Given the description of an element on the screen output the (x, y) to click on. 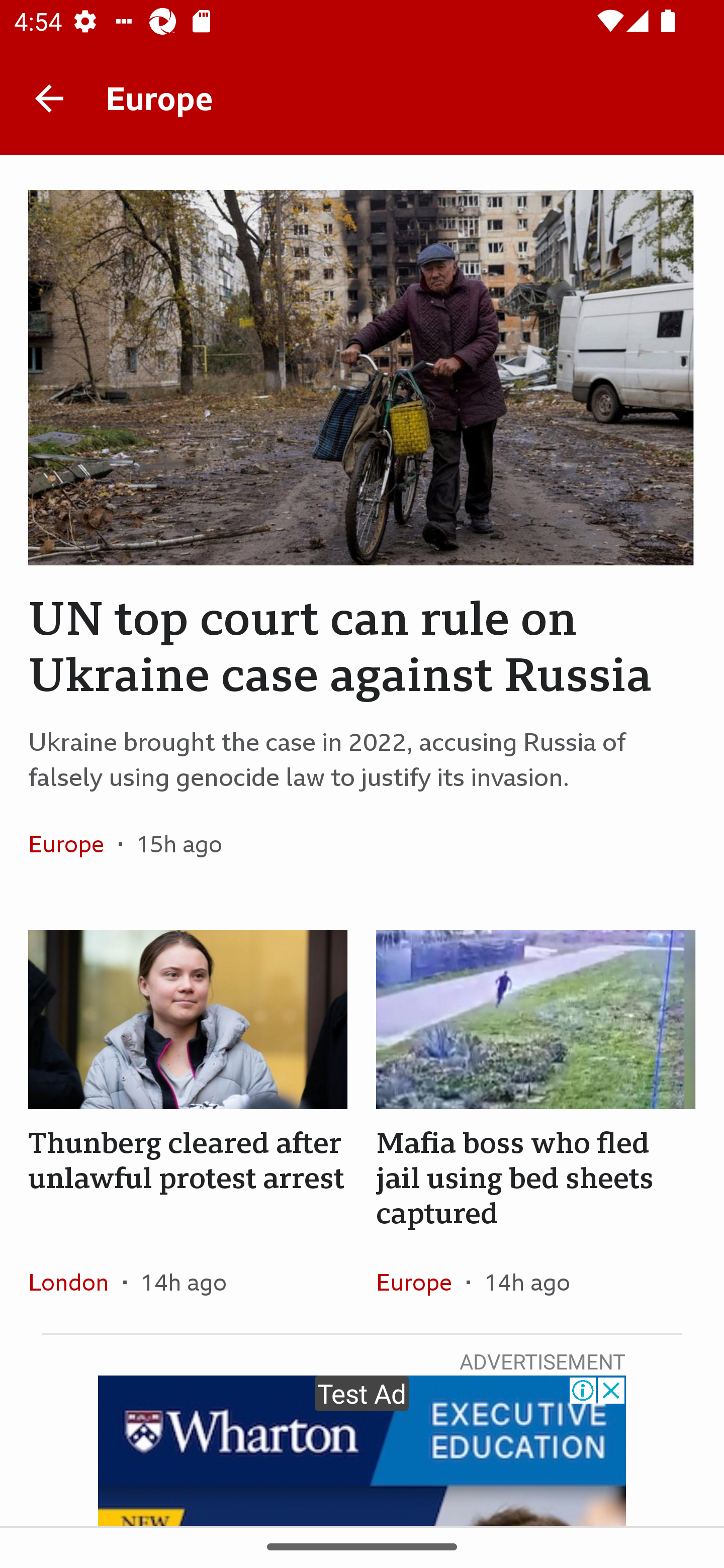
Back (49, 97)
Europe In the section Europe (73, 844)
London In the section London (75, 1281)
Europe In the section Europe (420, 1281)
